Given the description of an element on the screen output the (x, y) to click on. 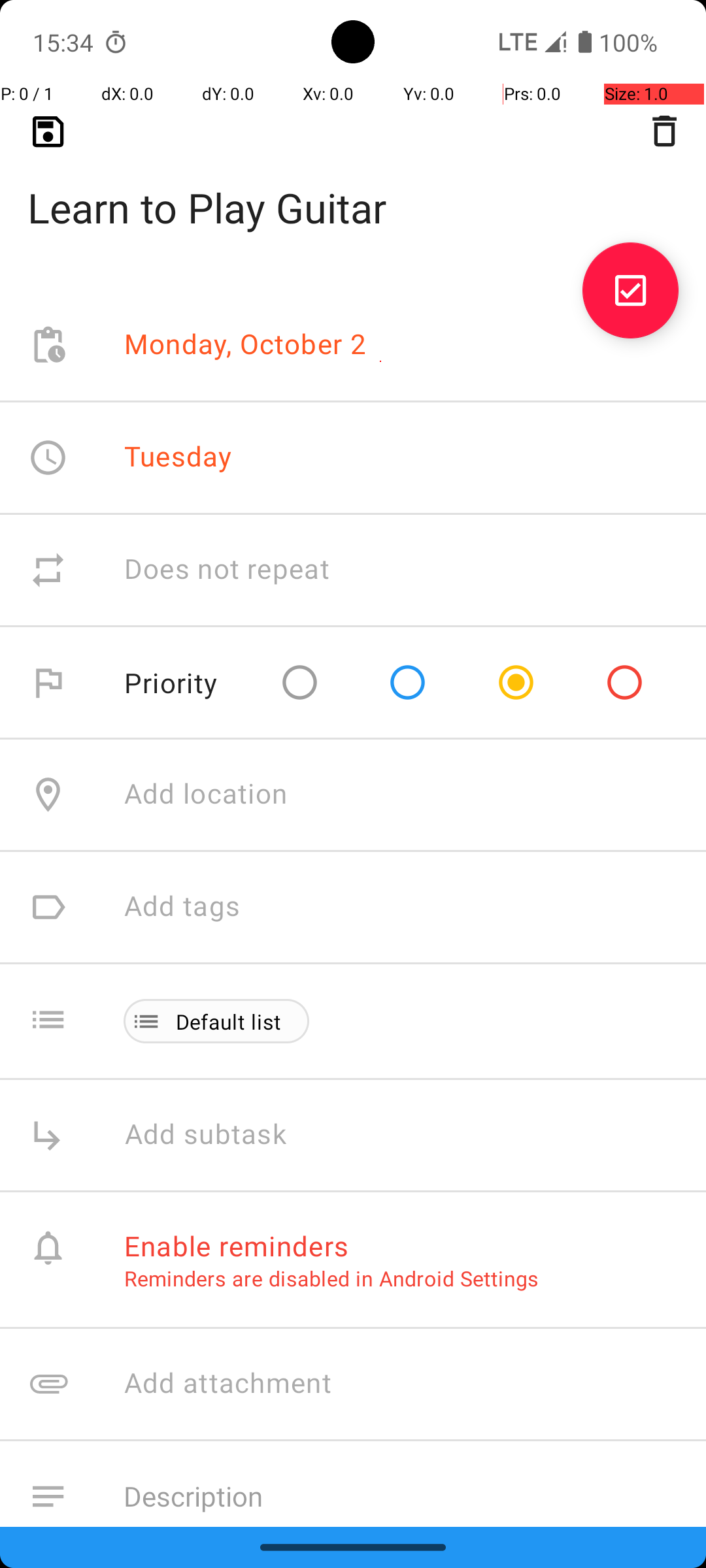
Monday, October 2 Element type: android.widget.TextView (245, 344)
